Given the description of an element on the screen output the (x, y) to click on. 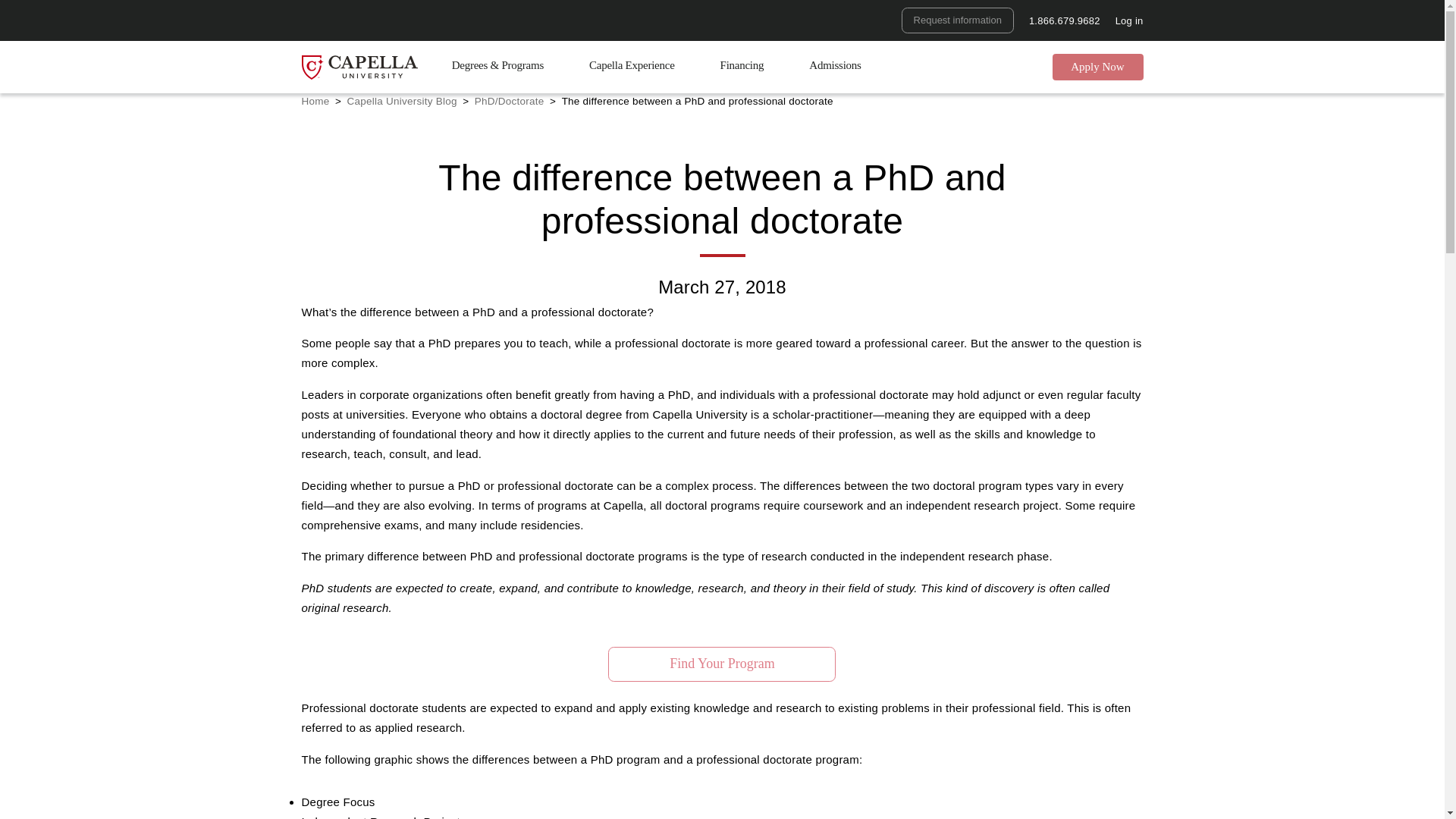
Log in (1128, 20)
1.866.679.9682 (1064, 20)
Request information (957, 20)
Capella University (359, 66)
